Given the description of an element on the screen output the (x, y) to click on. 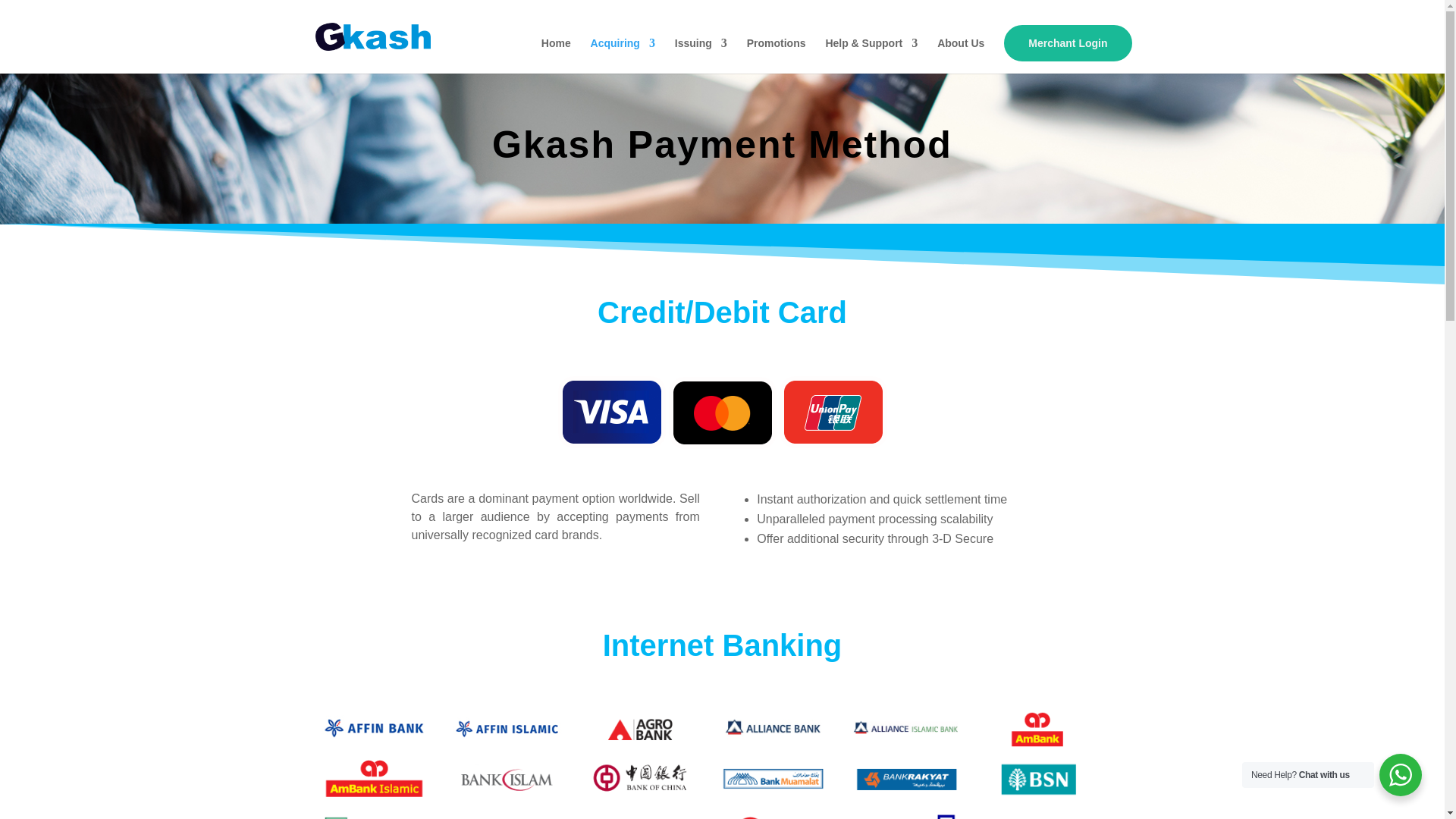
Acquiring (623, 55)
About Us (960, 55)
credit-debit-card (721, 411)
Promotions (776, 55)
Issuing (700, 55)
Merchant Login (1067, 42)
malaysia-bank (711, 764)
